Given the description of an element on the screen output the (x, y) to click on. 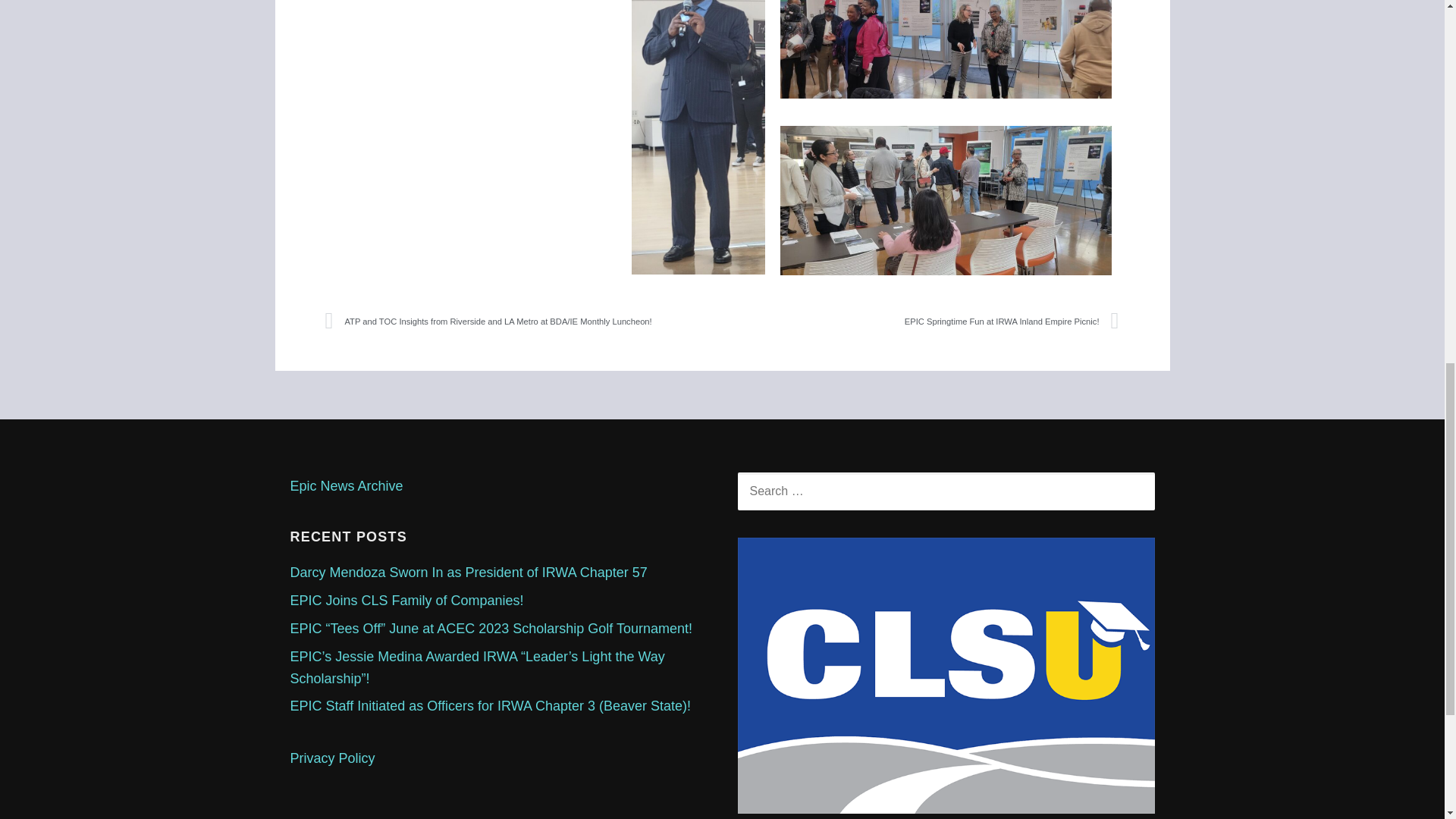
Darcy Mendoza Sworn In as President of IRWA Chapter 57 (467, 572)
Epic News Archive (346, 485)
EPIC Joins CLS Family of Companies! (405, 600)
EPIC Springtime Fun at IRWA Inland Empire Picnic! (920, 321)
Privacy Policy (331, 758)
